Given the description of an element on the screen output the (x, y) to click on. 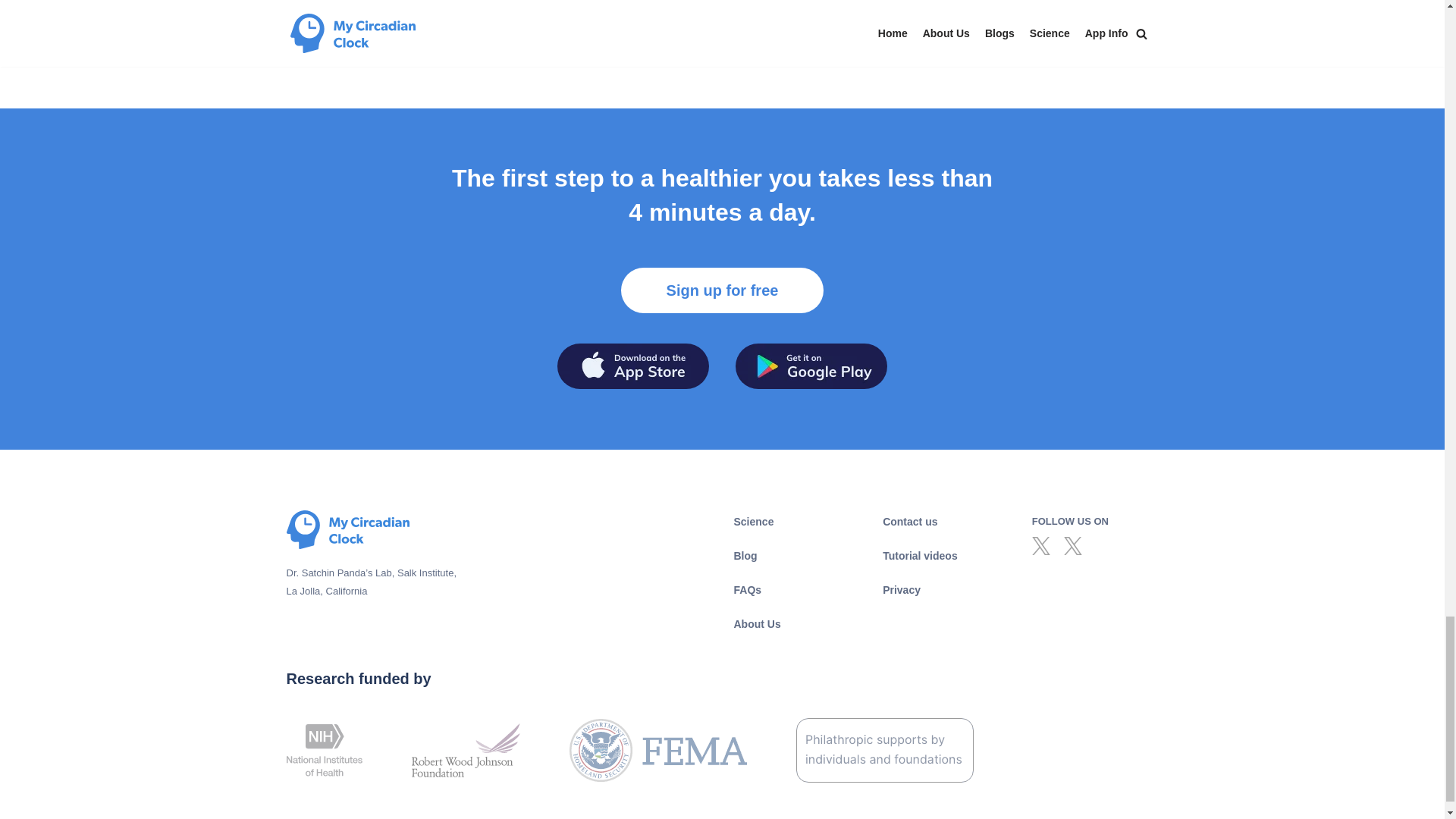
Gut Health (432, 20)
TRE (492, 20)
Twitter (1072, 546)
Twitter (1040, 546)
Digestion (355, 20)
